Given the description of an element on the screen output the (x, y) to click on. 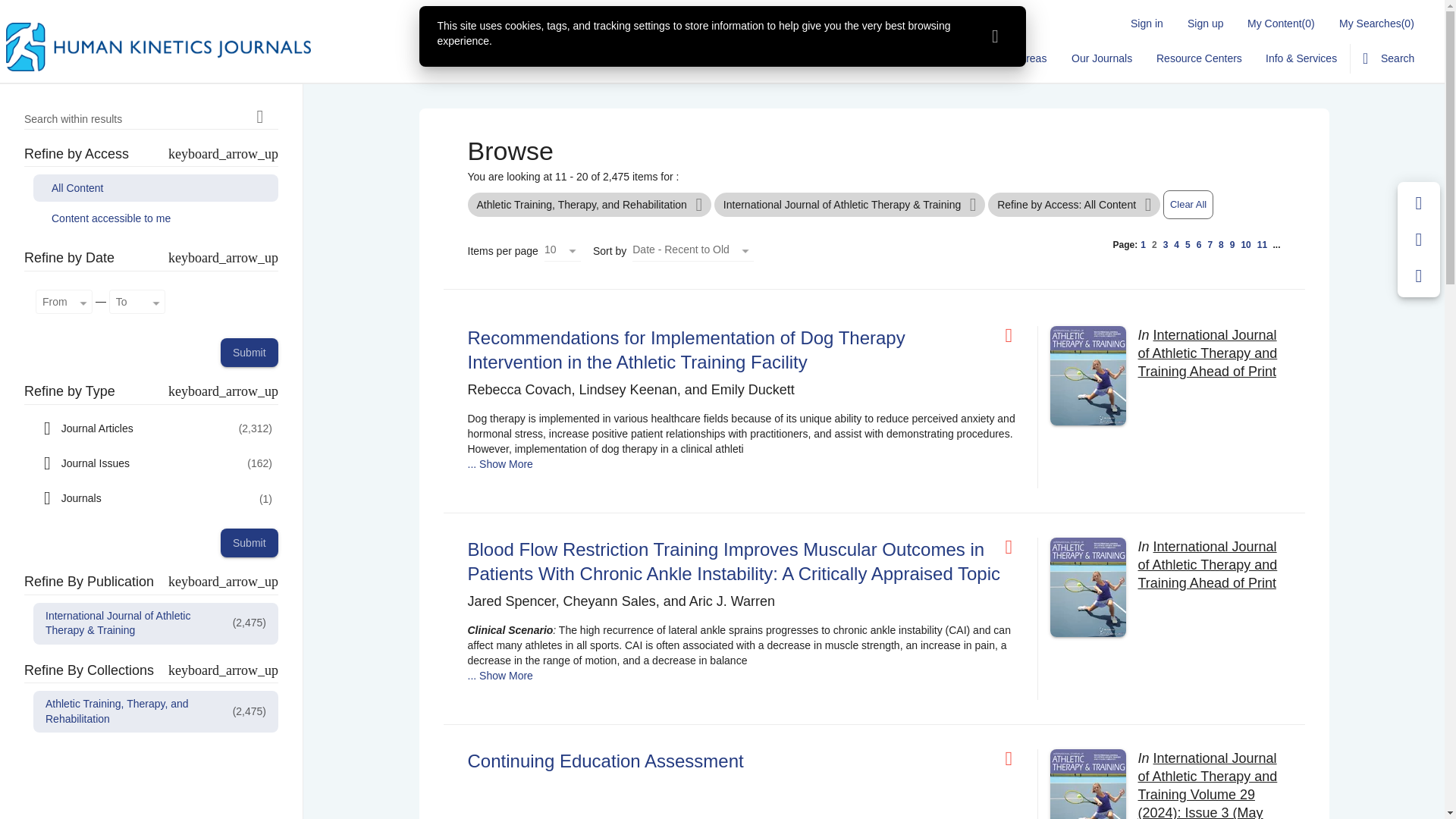
Email Page (1418, 239)
Dismiss this warning (994, 36)
Save (1418, 203)
Jump to Content (40, 8)
Human Kinetics (158, 46)
Home (743, 58)
Sign in (1146, 23)
Subscribe (933, 58)
Restricted access (1015, 335)
Browse (799, 58)
